Given the description of an element on the screen output the (x, y) to click on. 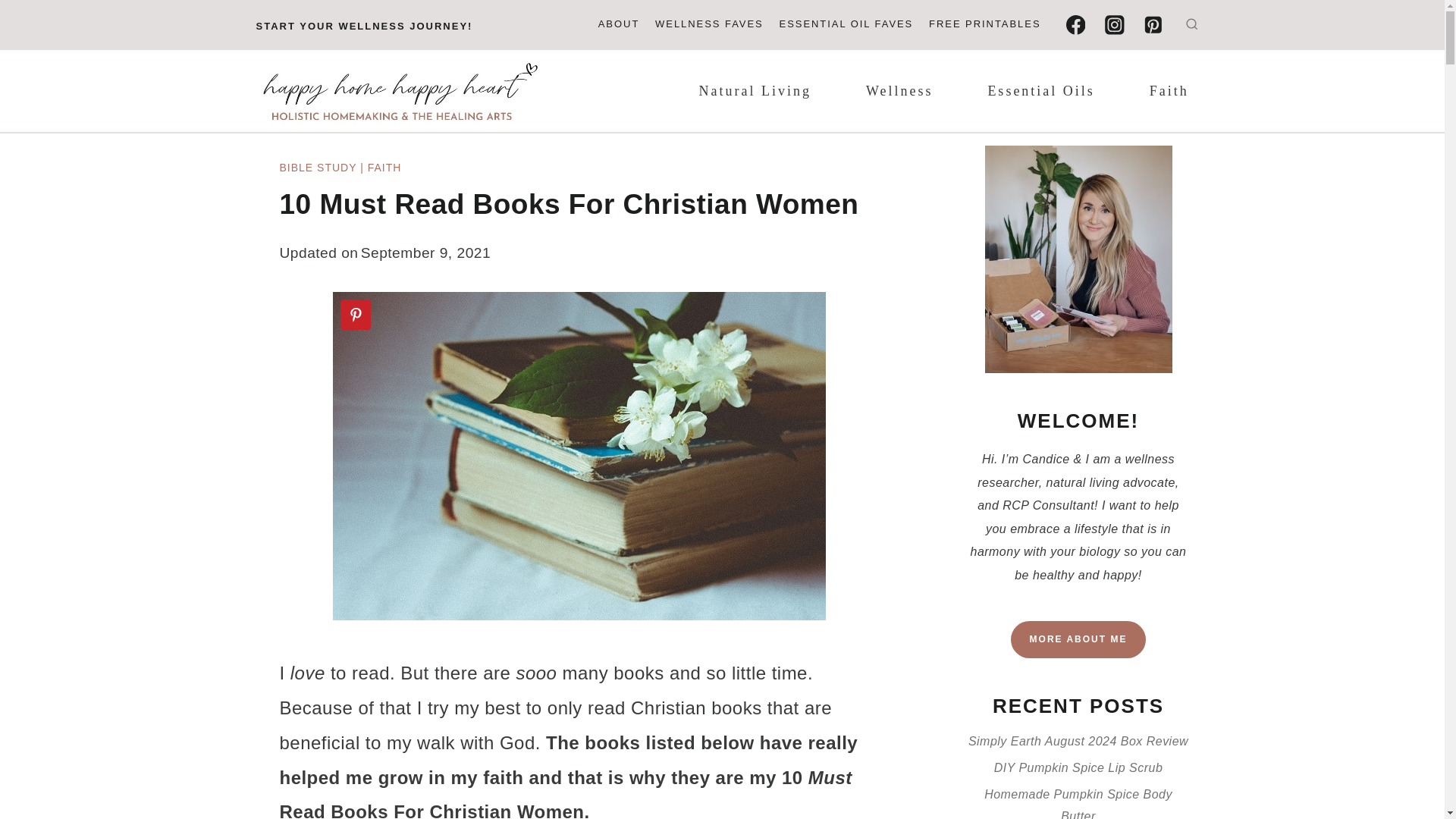
ABOUT (617, 25)
BIBLE STUDY (317, 167)
Wellness (898, 90)
WELLNESS FAVES (709, 25)
START YOUR WELLNESS JOURNEY! (363, 26)
Essential Oils (1041, 90)
FAITH (384, 167)
ESSENTIAL OIL FAVES (846, 25)
Natural Living (755, 90)
FREE PRINTABLES (984, 25)
